Given the description of an element on the screen output the (x, y) to click on. 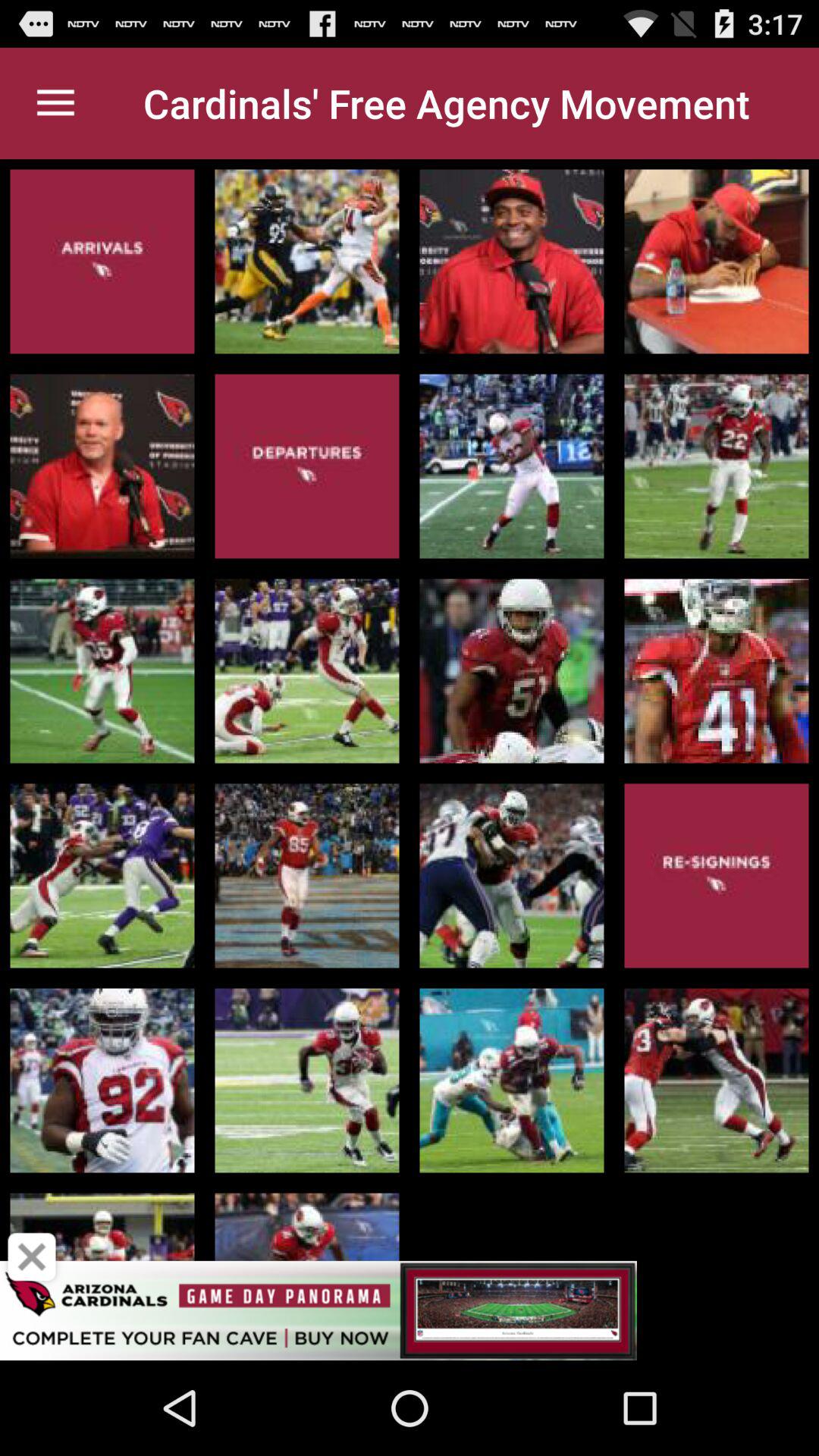
go to previous (31, 1256)
